Given the description of an element on the screen output the (x, y) to click on. 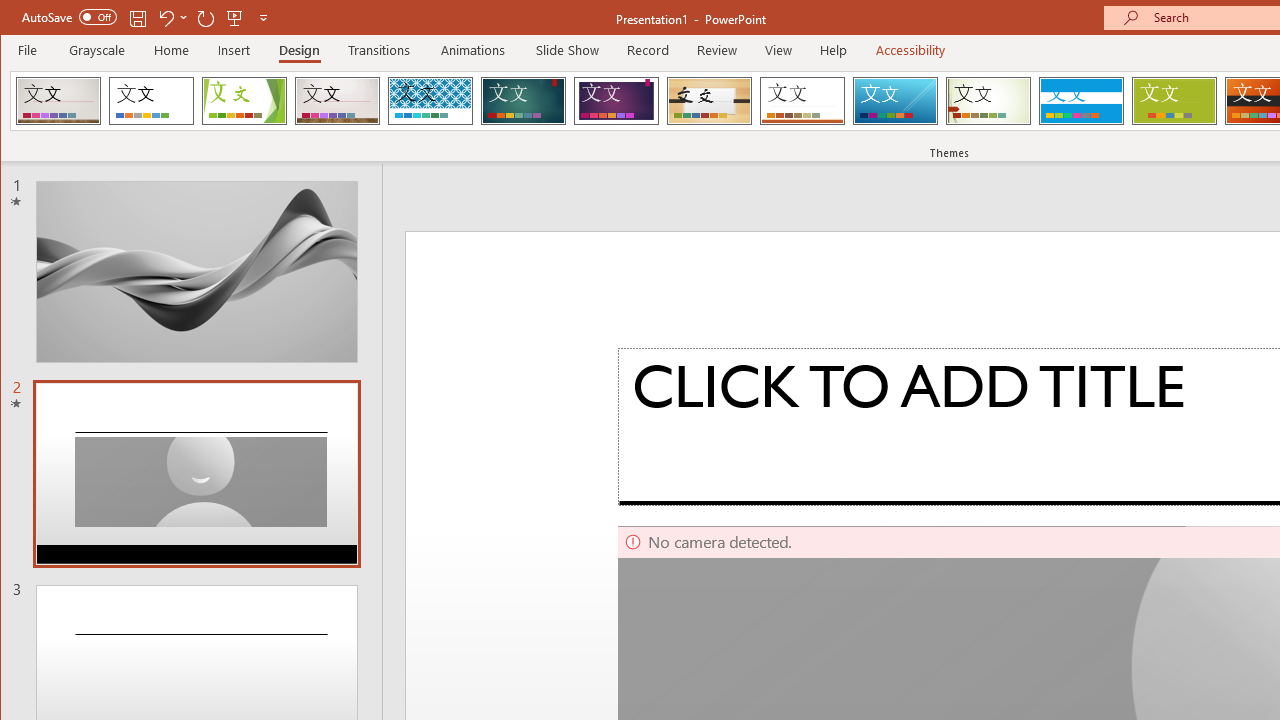
Ion Boardroom (616, 100)
Facet (244, 100)
